Given the description of an element on the screen output the (x, y) to click on. 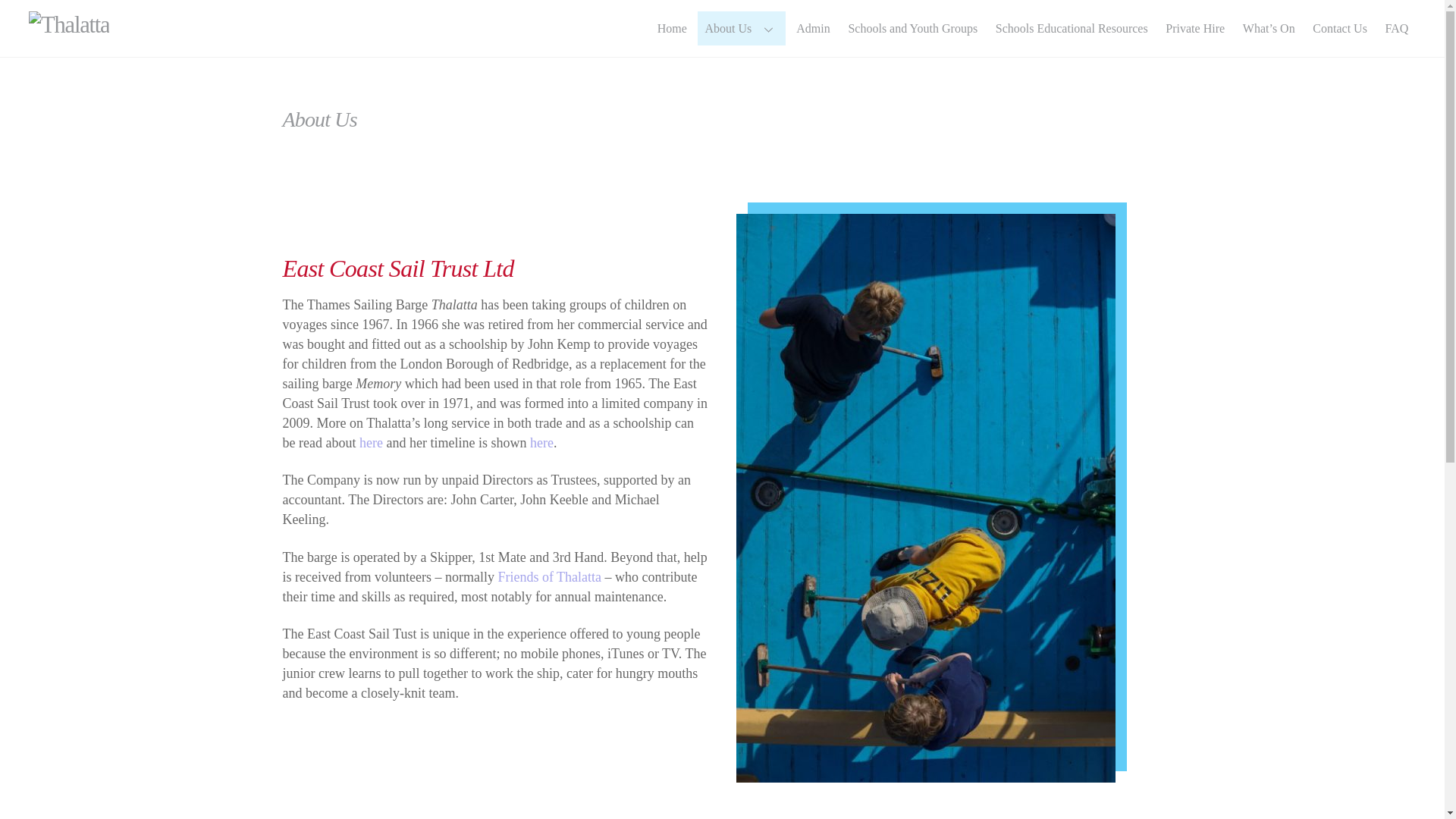
Home (671, 28)
here (370, 442)
Contact Us (1340, 28)
Schools and Youth Groups (913, 28)
Thalatta (69, 24)
Admin (813, 28)
About Us (741, 28)
Private Hire (1194, 28)
FAQ (1396, 28)
here (541, 442)
Schools Educational Resources (1071, 28)
Friends of Thalatta (549, 576)
